Given the description of an element on the screen output the (x, y) to click on. 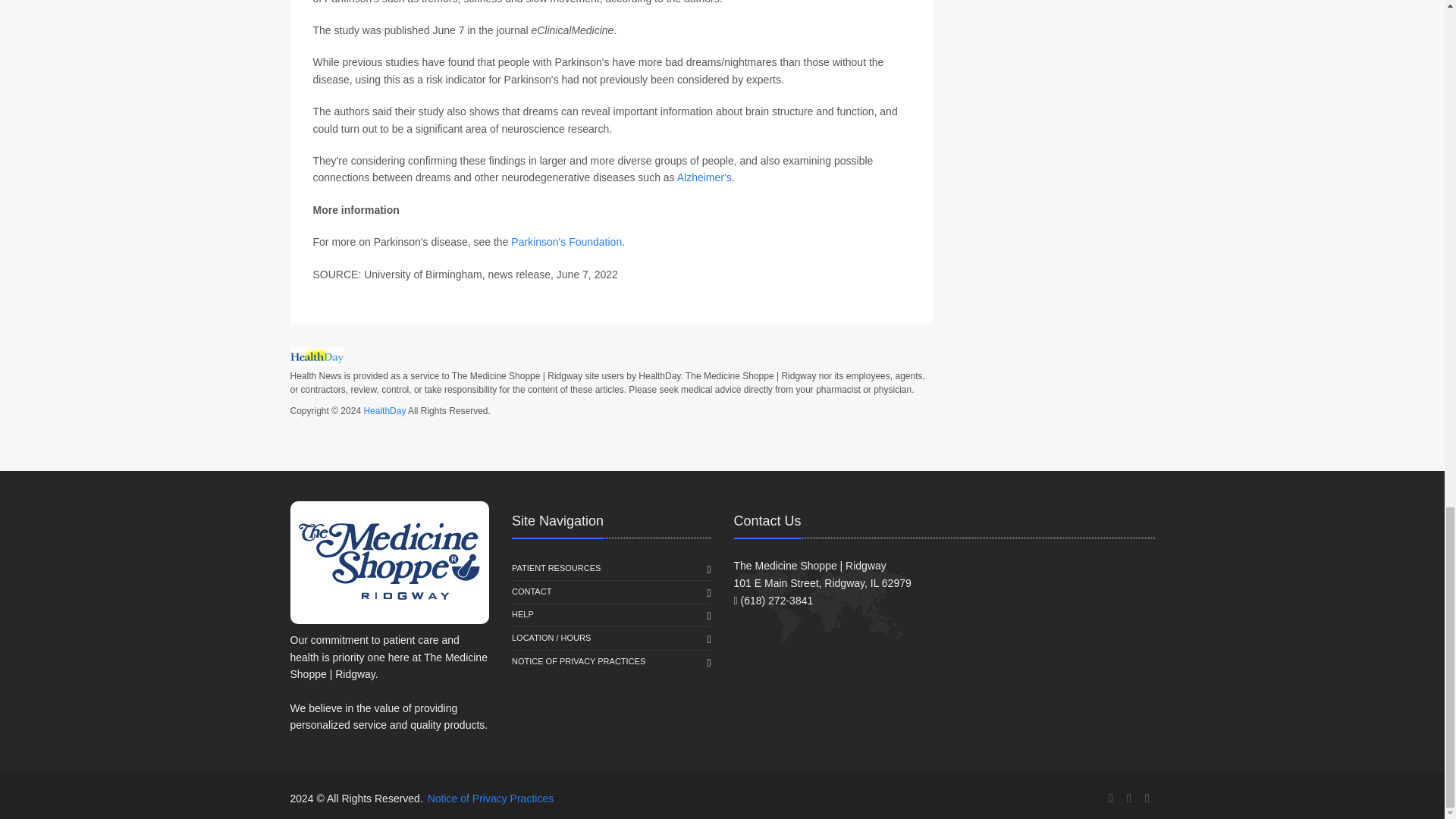
Alzheimer's (704, 177)
